Given the description of an element on the screen output the (x, y) to click on. 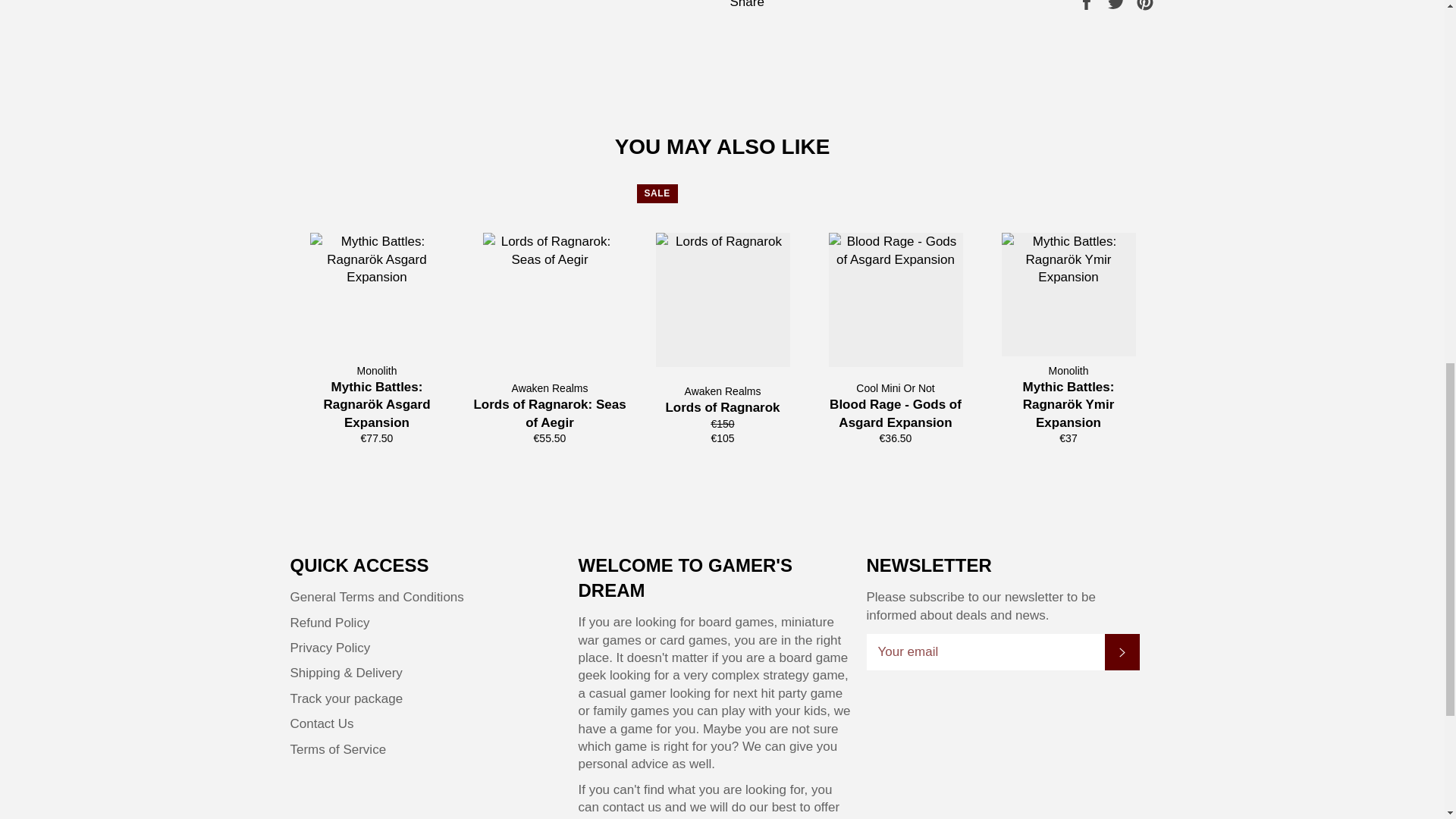
Share on Facebook (1088, 4)
Tweet on Twitter (1117, 4)
Pin on Pinterest (1144, 4)
